Given the description of an element on the screen output the (x, y) to click on. 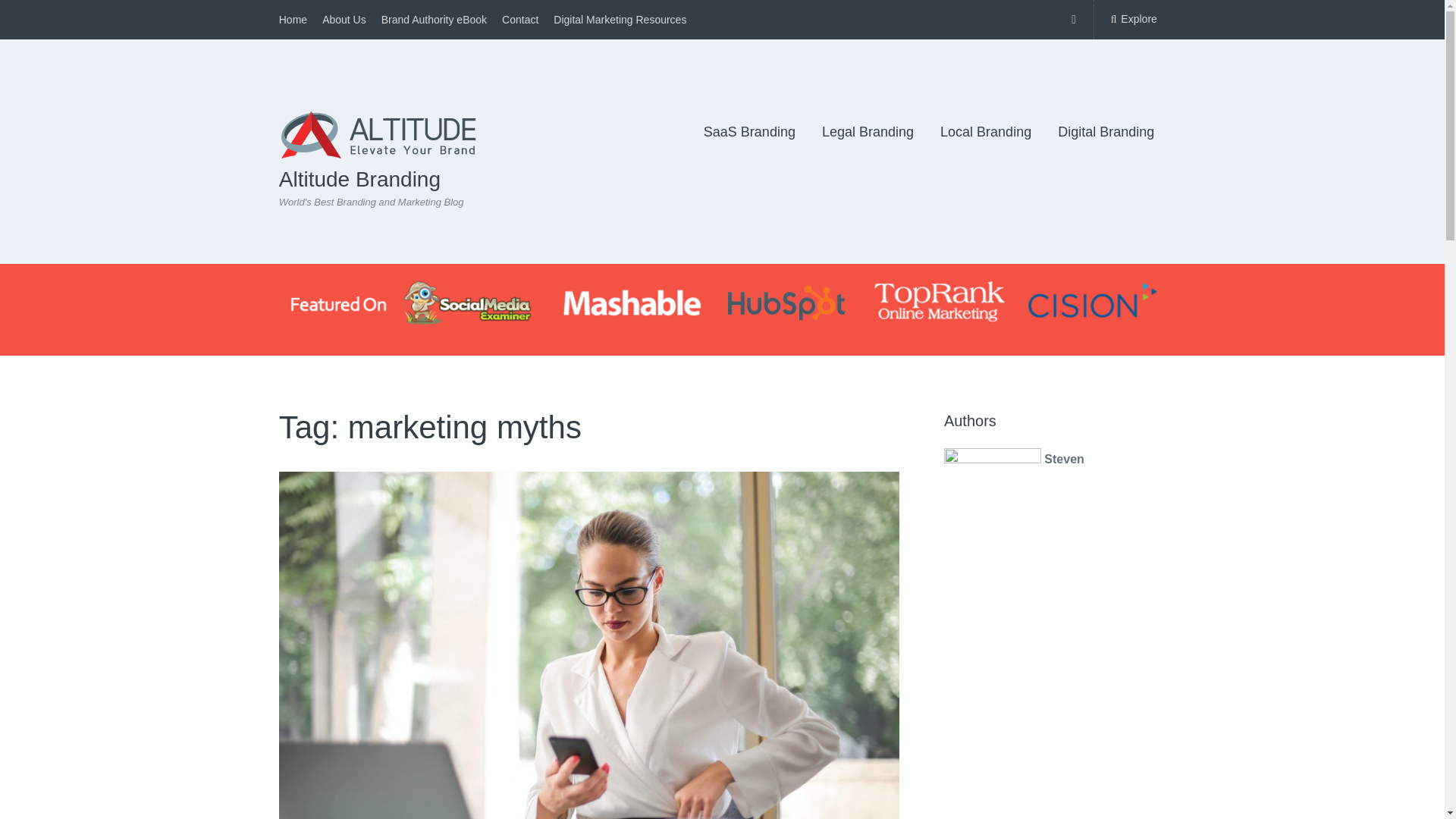
Contact (520, 19)
Brand Authority eBook (433, 19)
About Us (343, 19)
Digital Marketing Resources (619, 19)
